Given the description of an element on the screen output the (x, y) to click on. 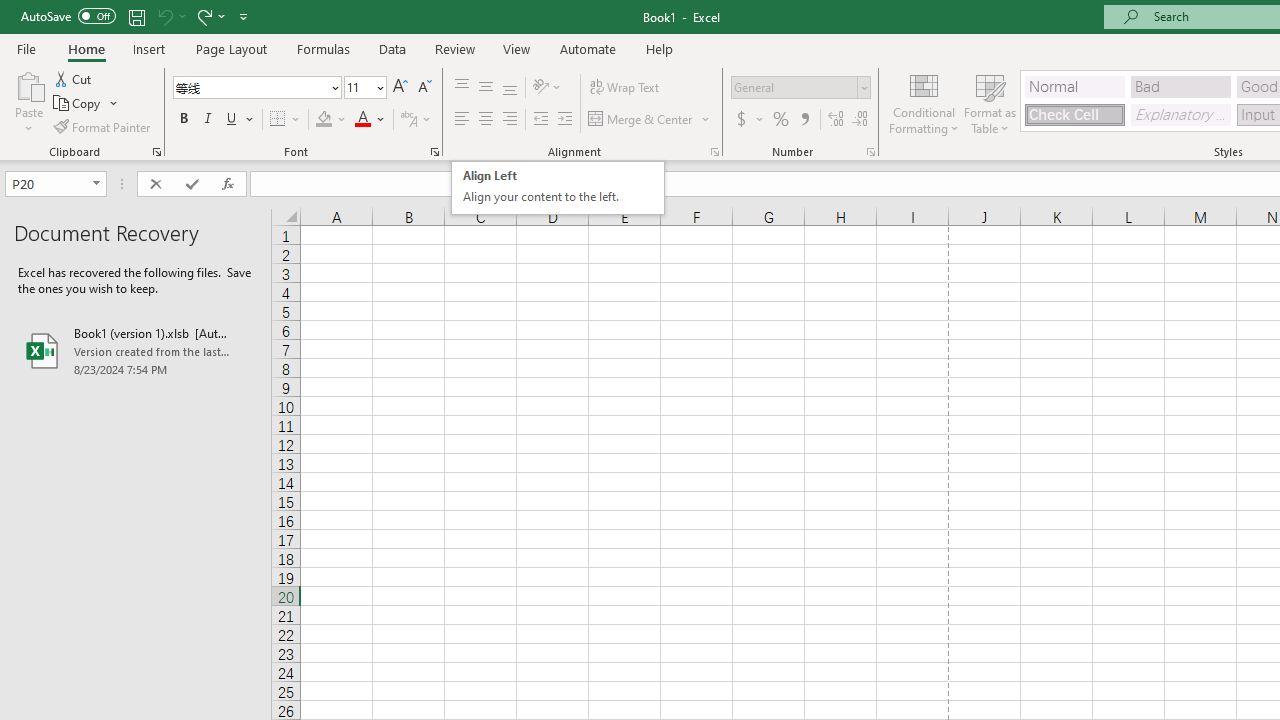
Italic (207, 119)
Format Cell Number (870, 151)
